Given the description of an element on the screen output the (x, y) to click on. 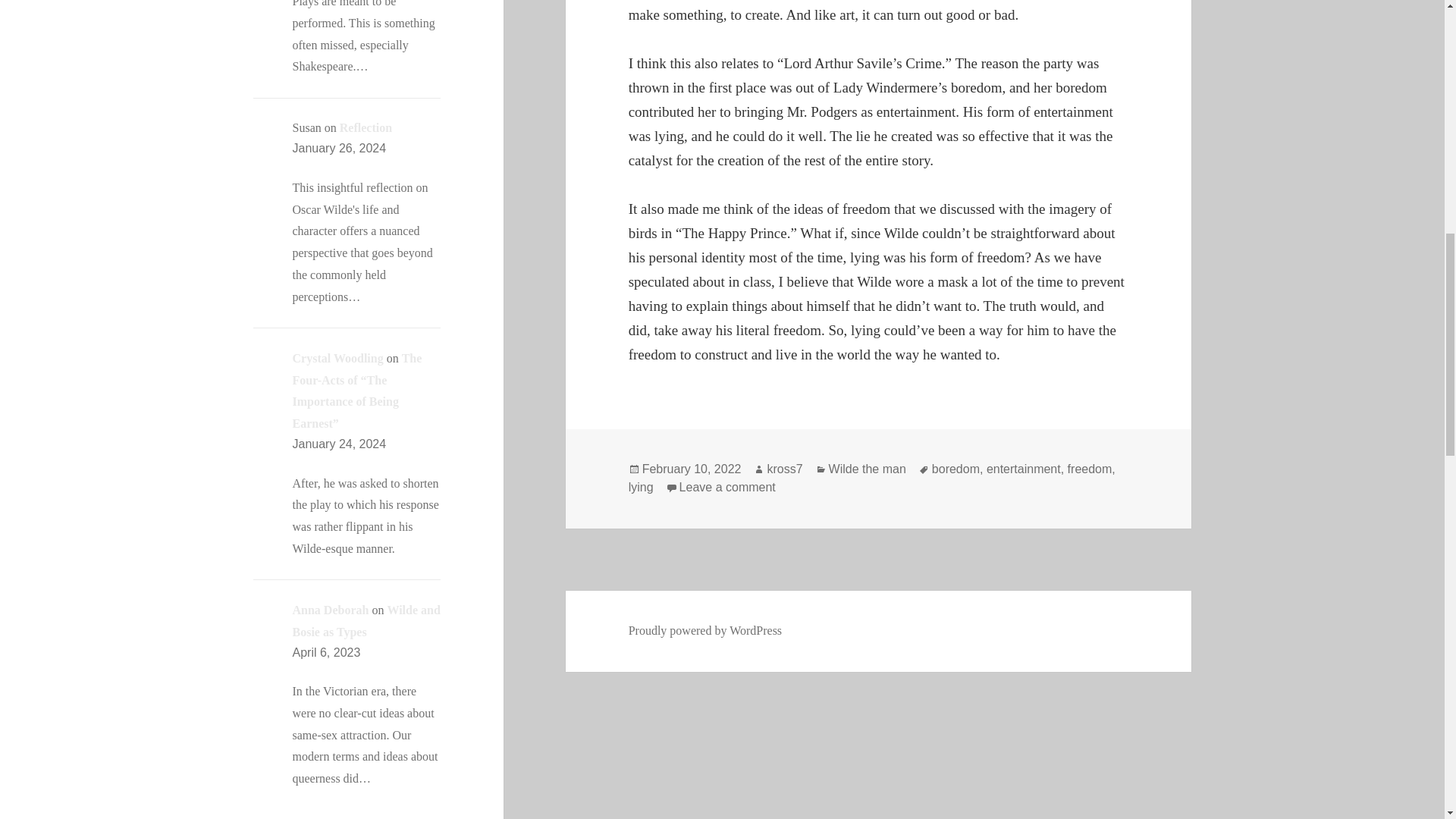
Reflection (365, 127)
Wilde and Bosie as Types (366, 620)
Crystal Woodling (338, 358)
Anna Deborah (330, 609)
